Given the description of an element on the screen output the (x, y) to click on. 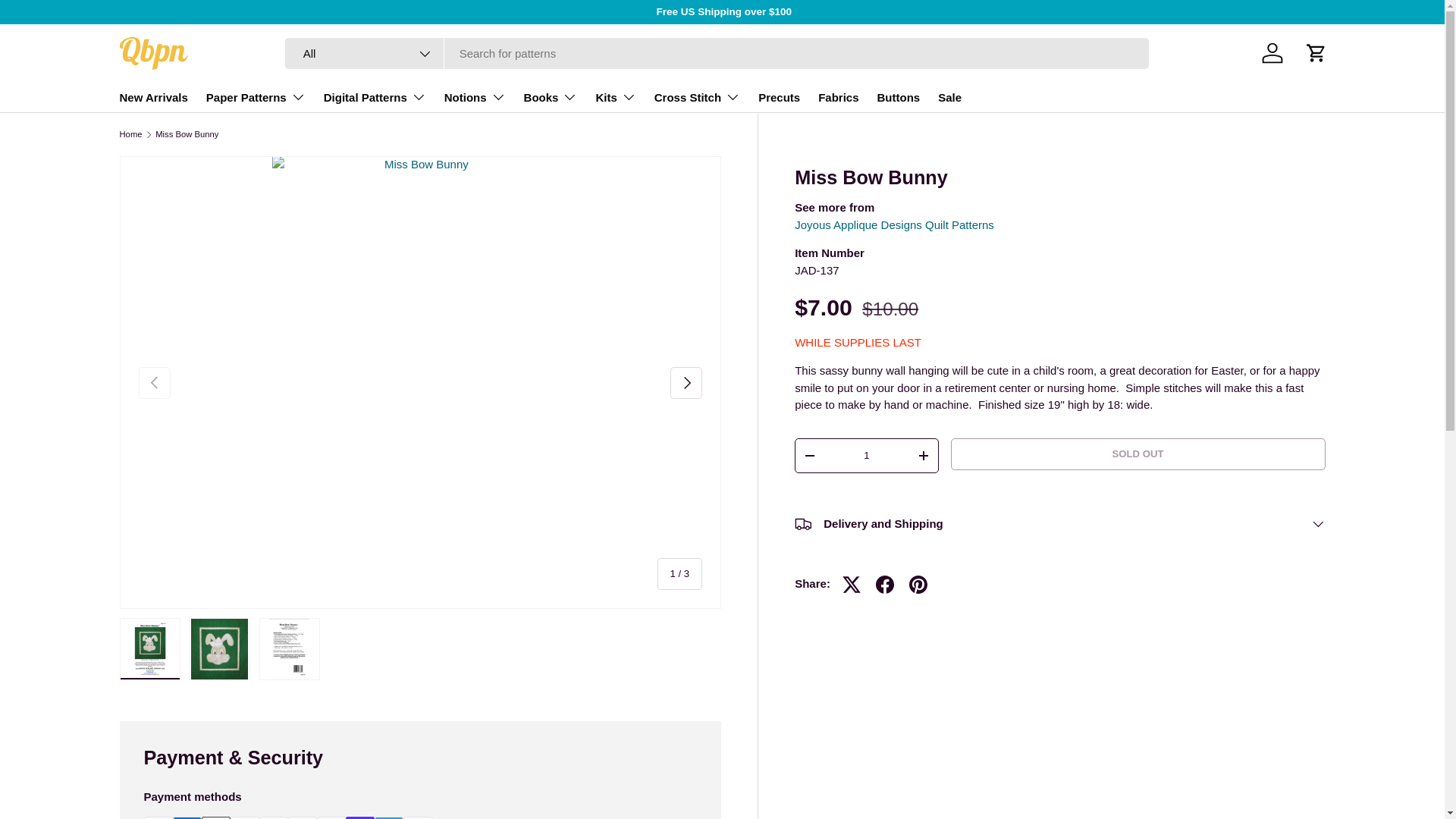
Cart (1316, 52)
Log in (1271, 52)
1 (866, 455)
SKIP TO CONTENT (68, 21)
New Arrivals (153, 97)
Digital Patterns (374, 96)
Paper Patterns (255, 96)
All (364, 52)
Pin on Pinterest (917, 584)
Tweet on X (850, 584)
Amazon (158, 817)
Apple Pay (216, 817)
American Express (187, 817)
Share on Facebook (884, 584)
